Given the description of an element on the screen output the (x, y) to click on. 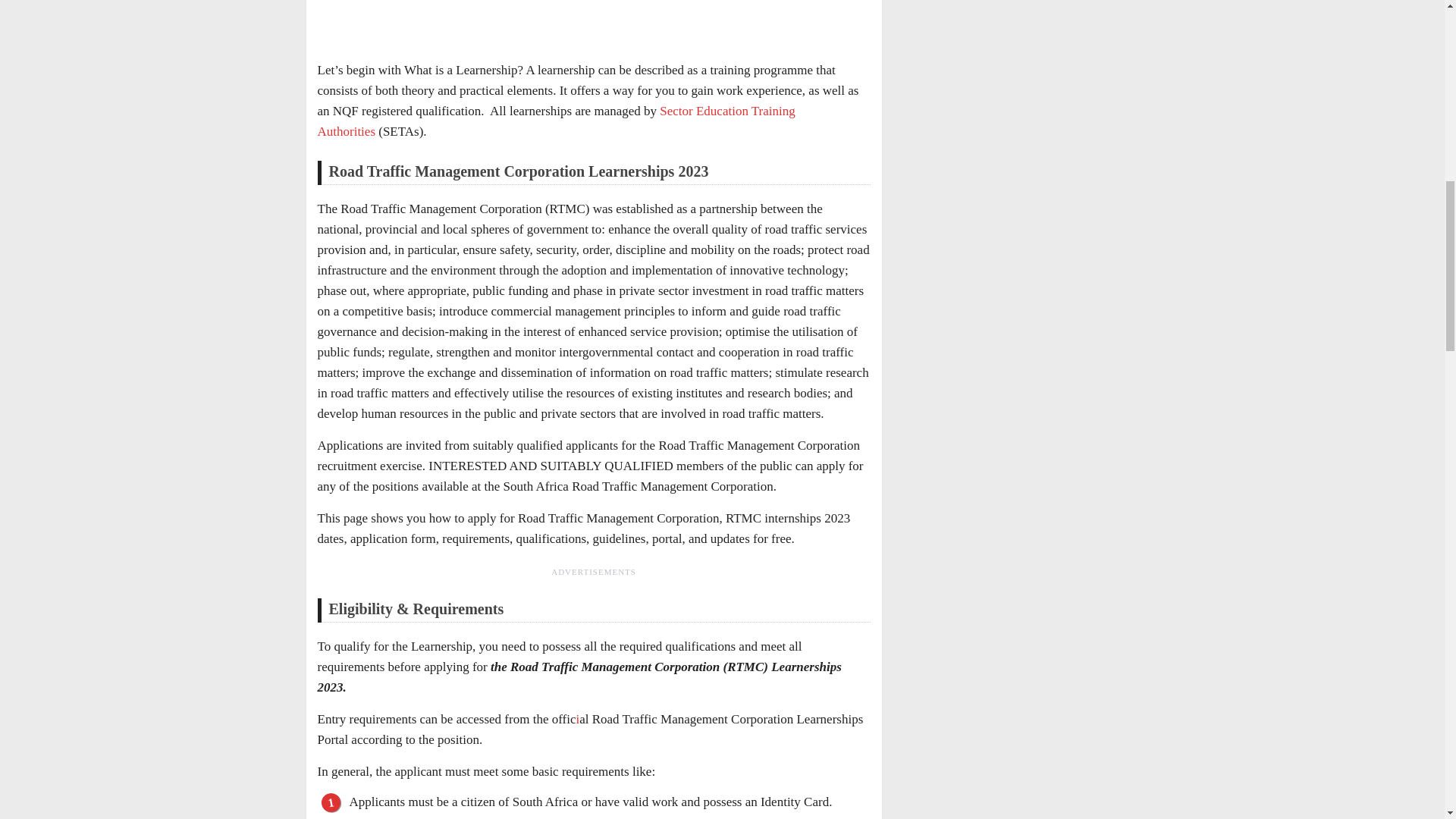
Advertisement (593, 22)
